Given the description of an element on the screen output the (x, y) to click on. 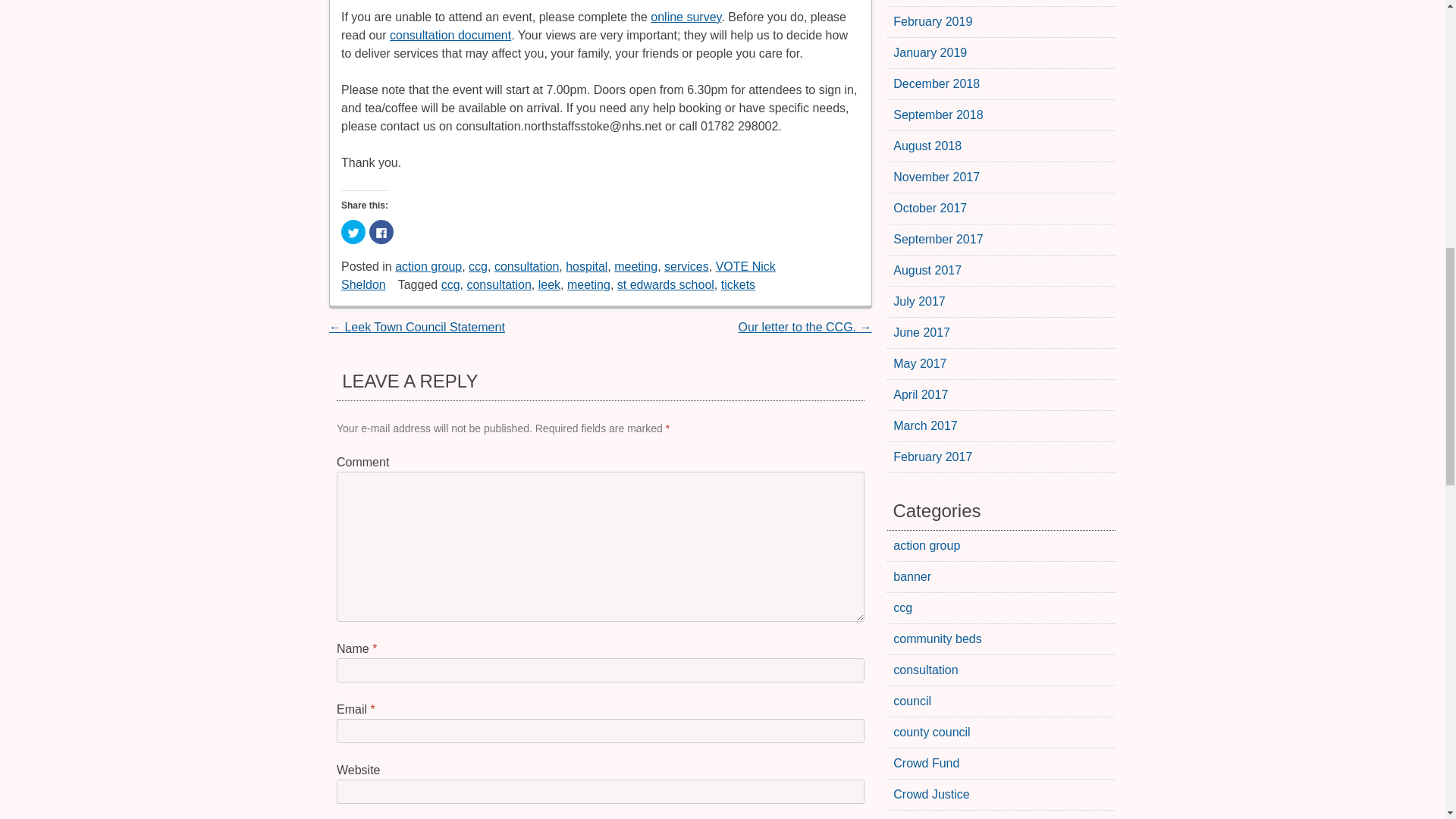
services (686, 266)
leek (549, 284)
meeting (588, 284)
online survey (685, 16)
hospital (586, 266)
tickets (737, 284)
ccg (450, 284)
Click to share on Facebook (381, 232)
consultation (498, 284)
action group (427, 266)
meeting (636, 266)
Click to share on Twitter (352, 232)
consultation (527, 266)
VOTE Nick Sheldon (558, 275)
st edwards school (665, 284)
